Given the description of an element on the screen output the (x, y) to click on. 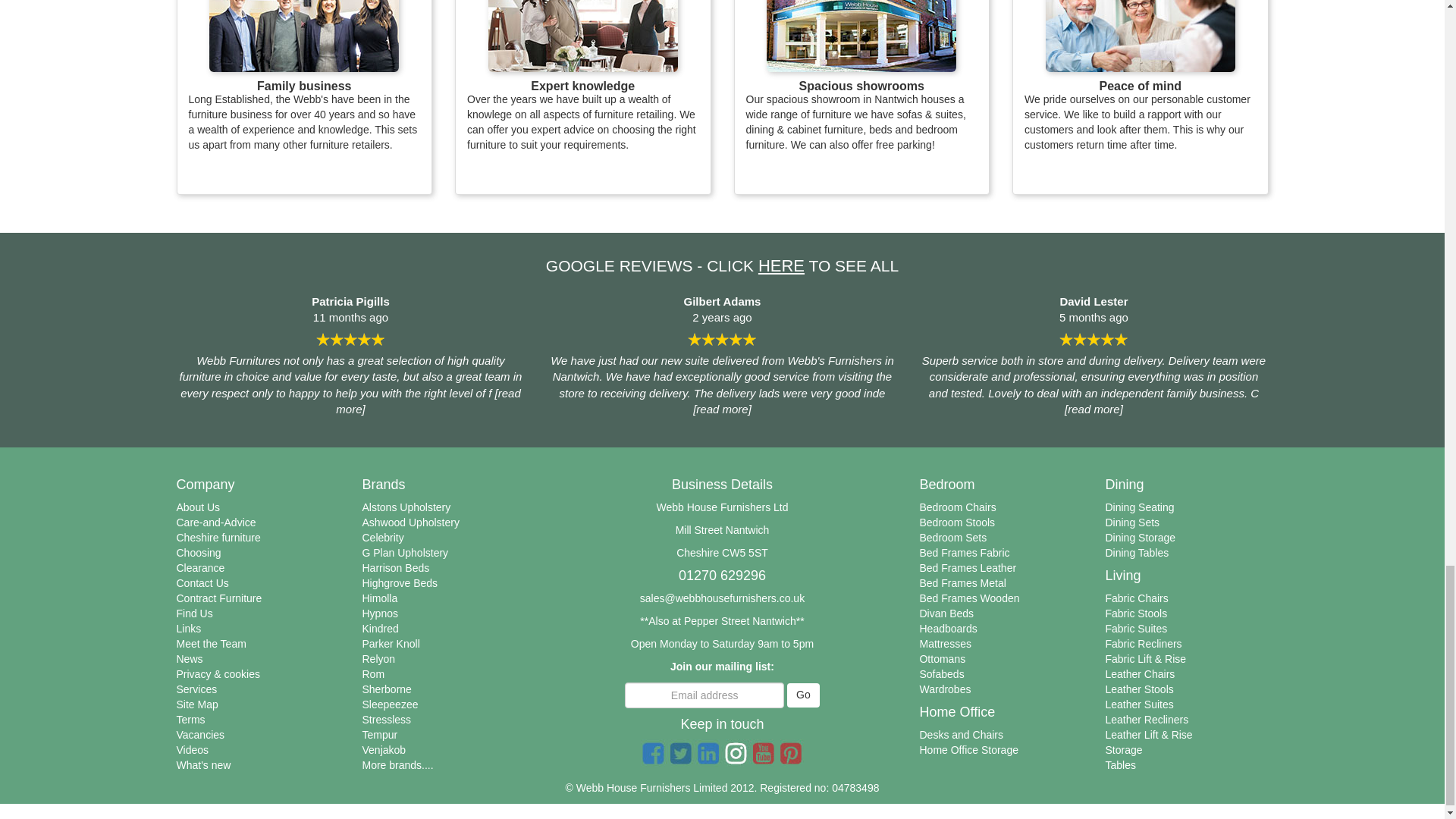
Front of shop (861, 36)
After sales service (1139, 36)
Knowledgeable staff (582, 36)
Howard and Joan (303, 36)
Click to read our reviews on Google. (781, 265)
